Given the description of an element on the screen output the (x, y) to click on. 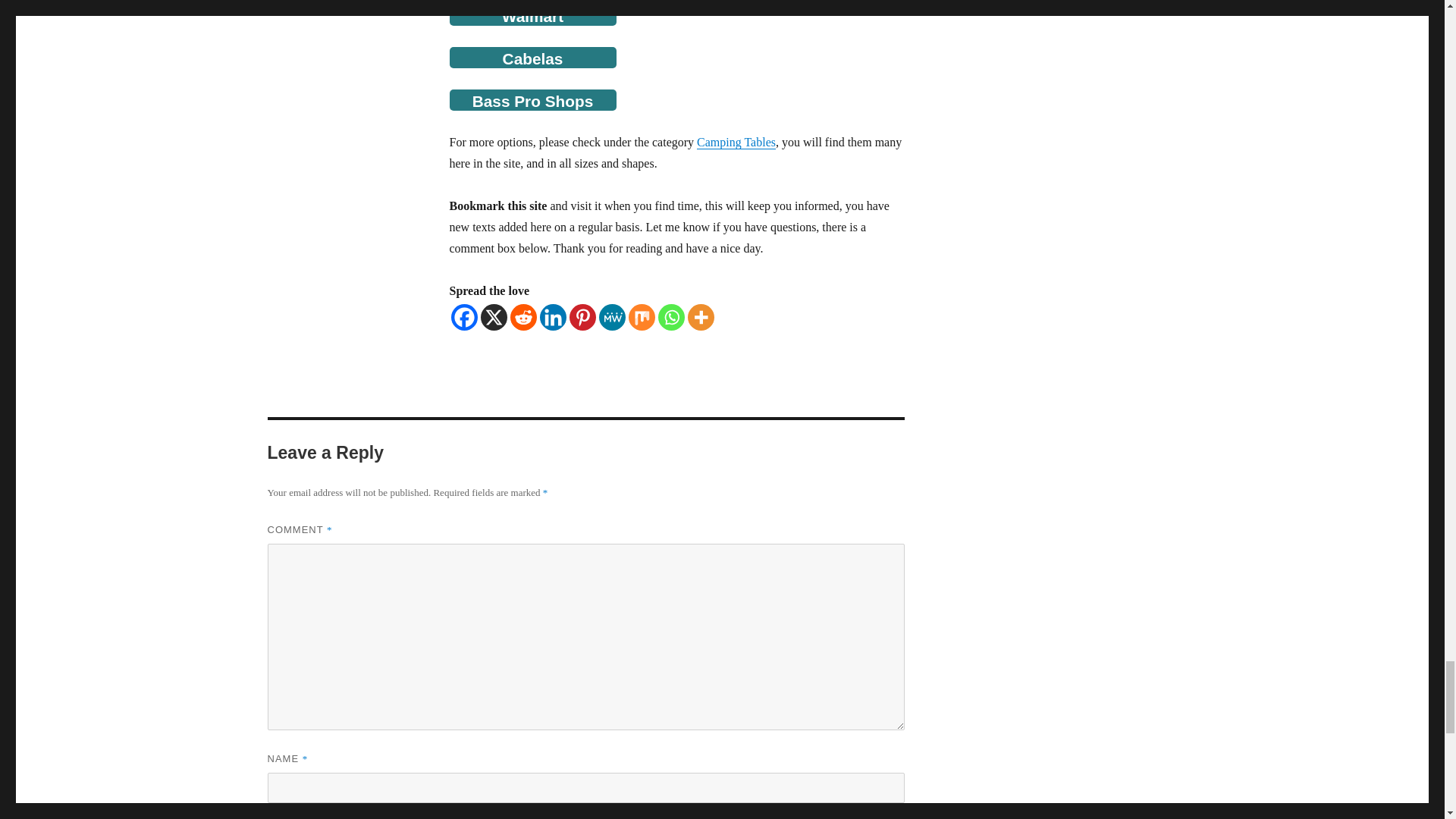
Walmart (531, 14)
X (493, 316)
Mix (640, 316)
Whatsapp (671, 316)
Camping Tables (736, 141)
Pinterest (582, 316)
Facebook (463, 316)
Linkedin (553, 316)
MeWe (612, 316)
Bass Pro Shops (531, 99)
